Given the description of an element on the screen output the (x, y) to click on. 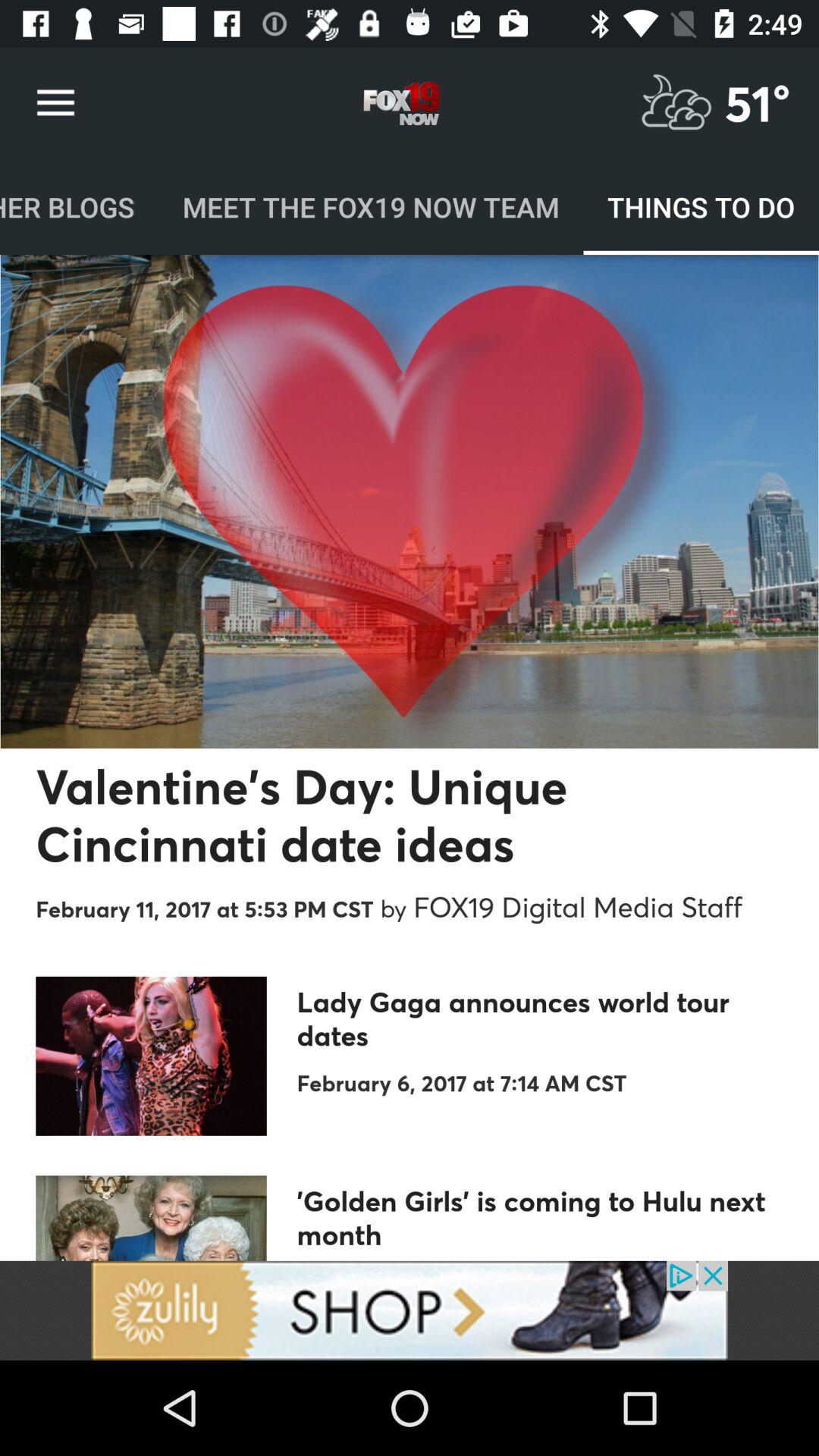
add of the option (409, 1310)
